Given the description of an element on the screen output the (x, y) to click on. 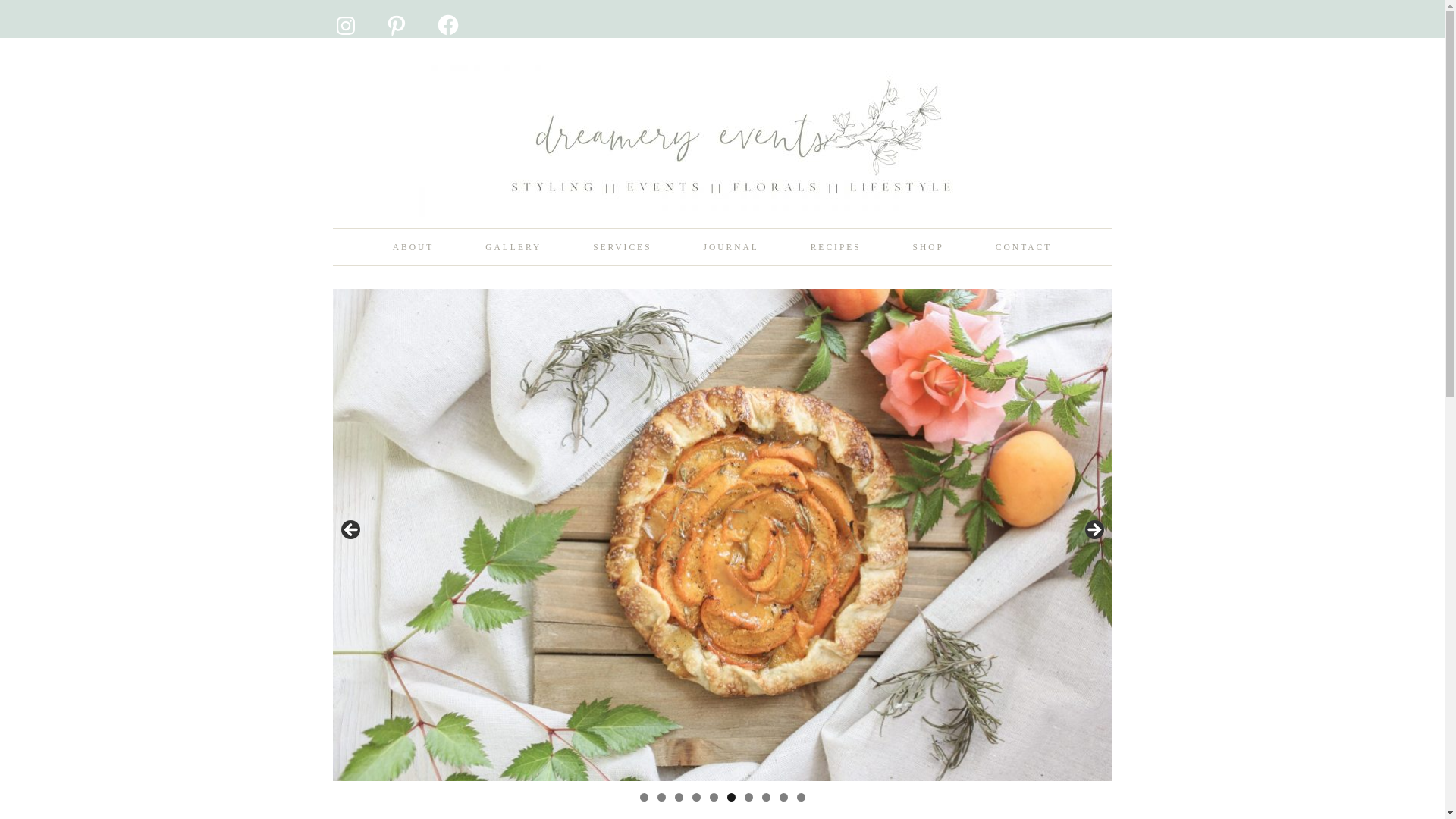
JOURNAL (730, 247)
INSTAGRAM (333, 13)
FACEBOOK (436, 13)
PINTEREST (384, 13)
DREAMERY EVENTS (721, 159)
ABOUT (413, 247)
SERVICES (622, 247)
RECIPES (835, 247)
GALLERY (513, 247)
